Given the description of an element on the screen output the (x, y) to click on. 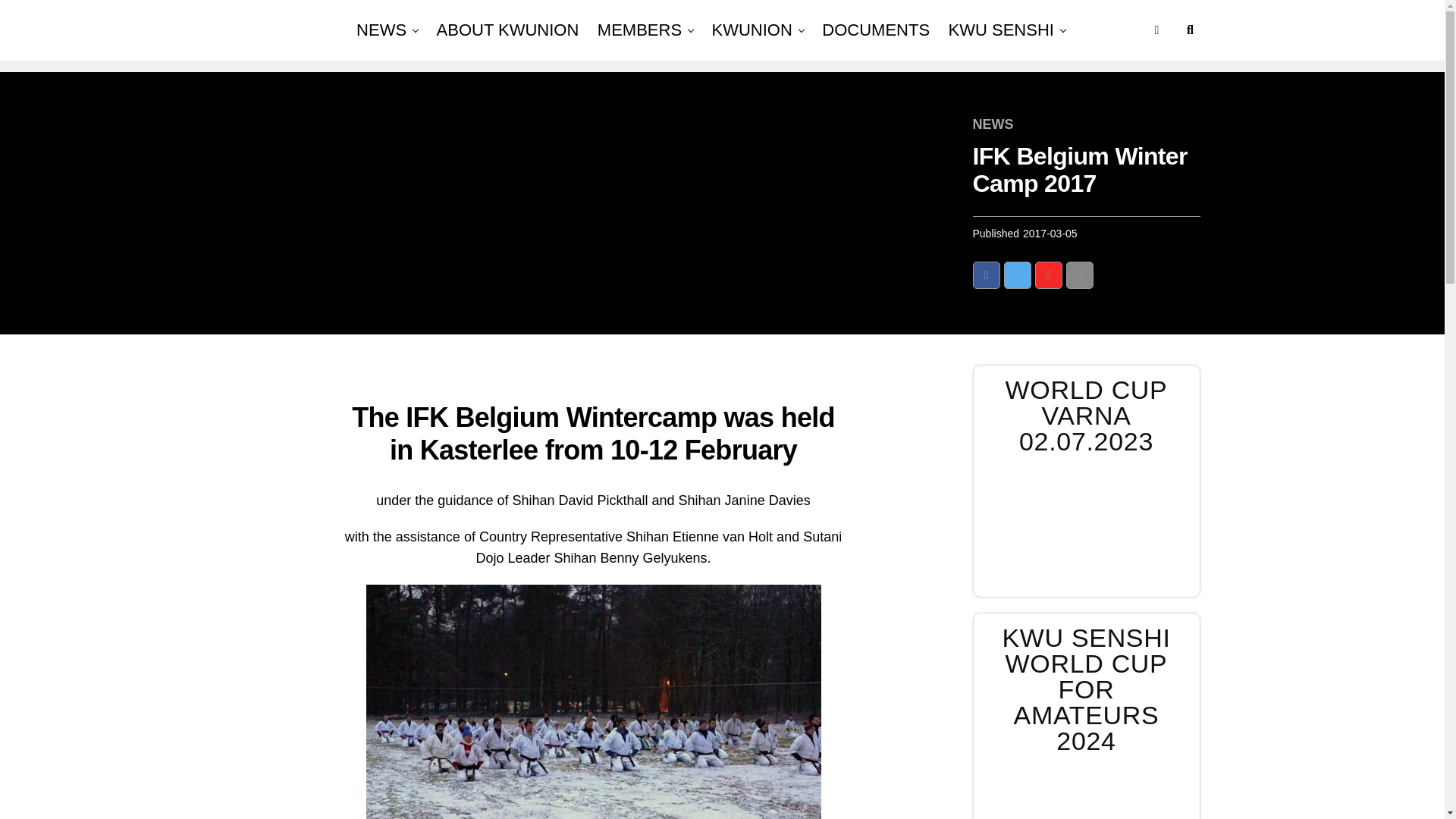
Share on Facebook (985, 275)
Tweet This Post (1017, 275)
Share on Flipboard (1047, 275)
World Cup Varna 2024 (1086, 526)
KWU SENSHI World Cup for Amateurs 2024 (1086, 794)
